Given the description of an element on the screen output the (x, y) to click on. 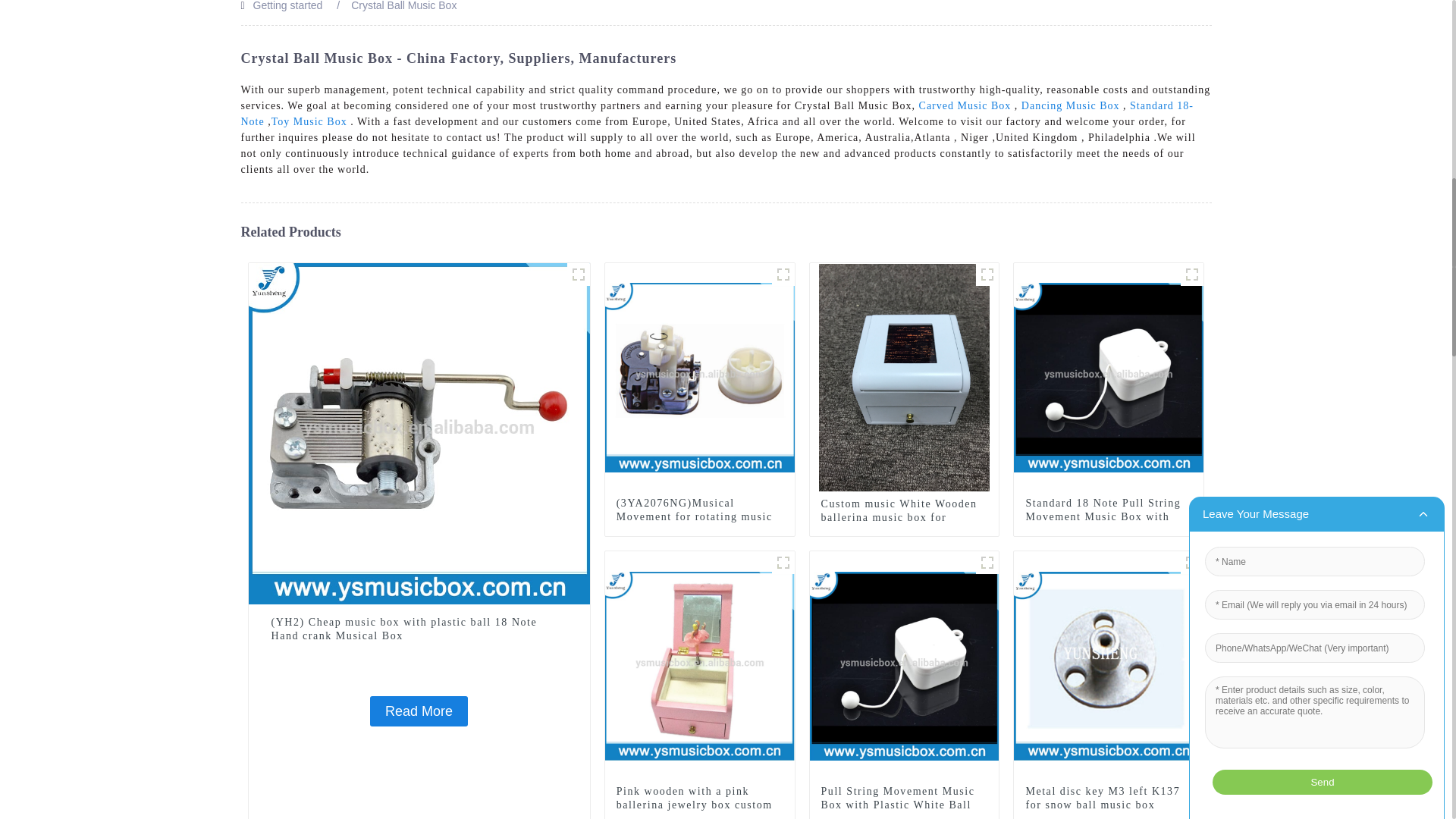
Standard 18-Note (717, 113)
Read More (418, 711)
Toy Music Box (308, 121)
Getting started (288, 5)
Crystal Ball Music Box (403, 5)
Dancing Music Box (1070, 105)
Dancing Music Box (1070, 105)
LP-45 WHITE (986, 273)
Standard 18-Note (717, 113)
Toy Music Box (308, 121)
Carved Music Box (964, 105)
Carved Music Box (964, 105)
